Given the description of an element on the screen output the (x, y) to click on. 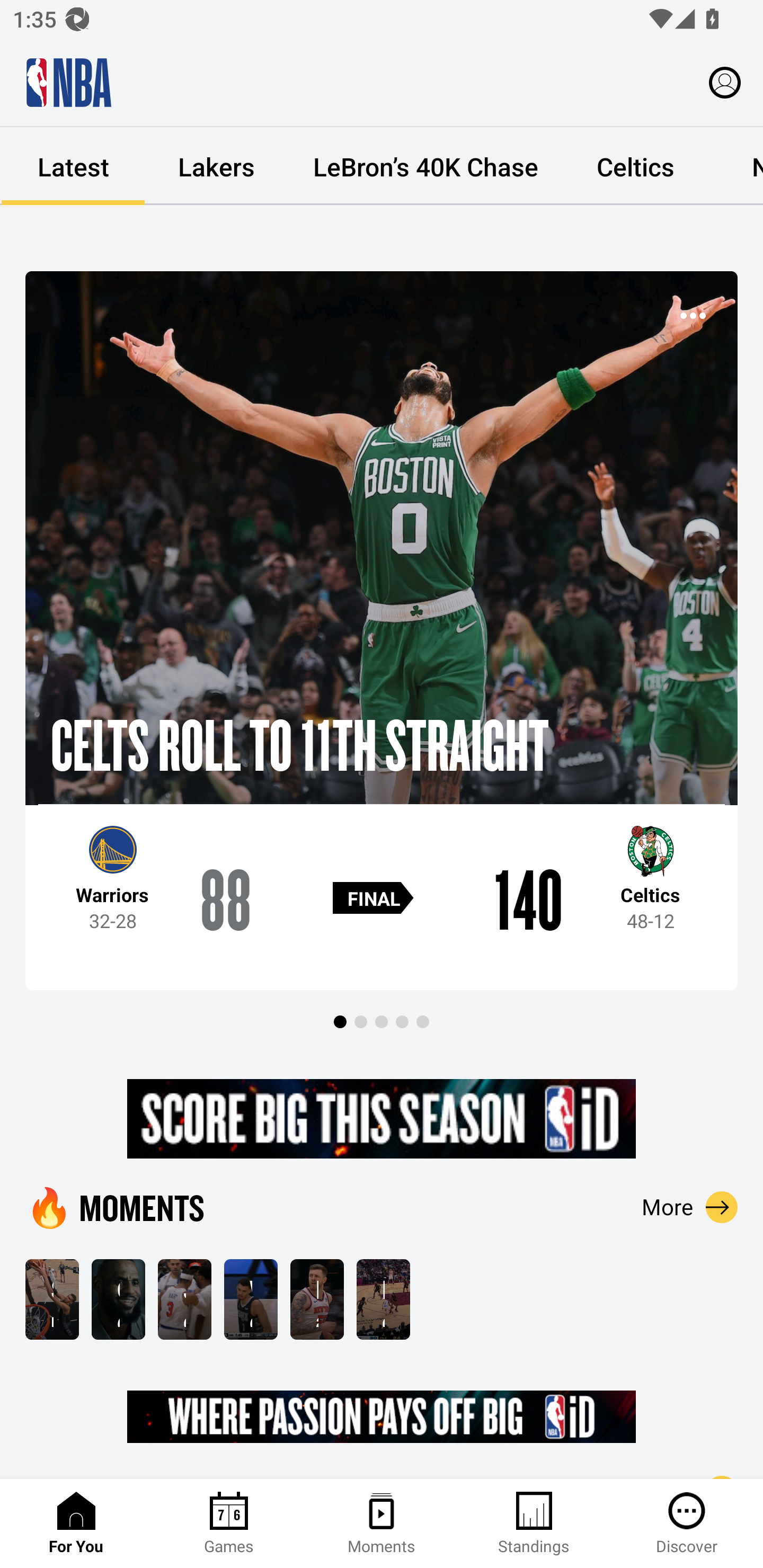
Profile (724, 81)
Lakers (215, 166)
LeBron’s 40K Chase (425, 166)
Celtics (634, 166)
More (689, 1207)
Sunday's Top Plays In 30 Seconds ⏱ (51, 1299)
Hartenstein Drops The Hammer 🔨 (317, 1299)
Games (228, 1523)
Moments (381, 1523)
Standings (533, 1523)
Discover (686, 1523)
